Given the description of an element on the screen output the (x, y) to click on. 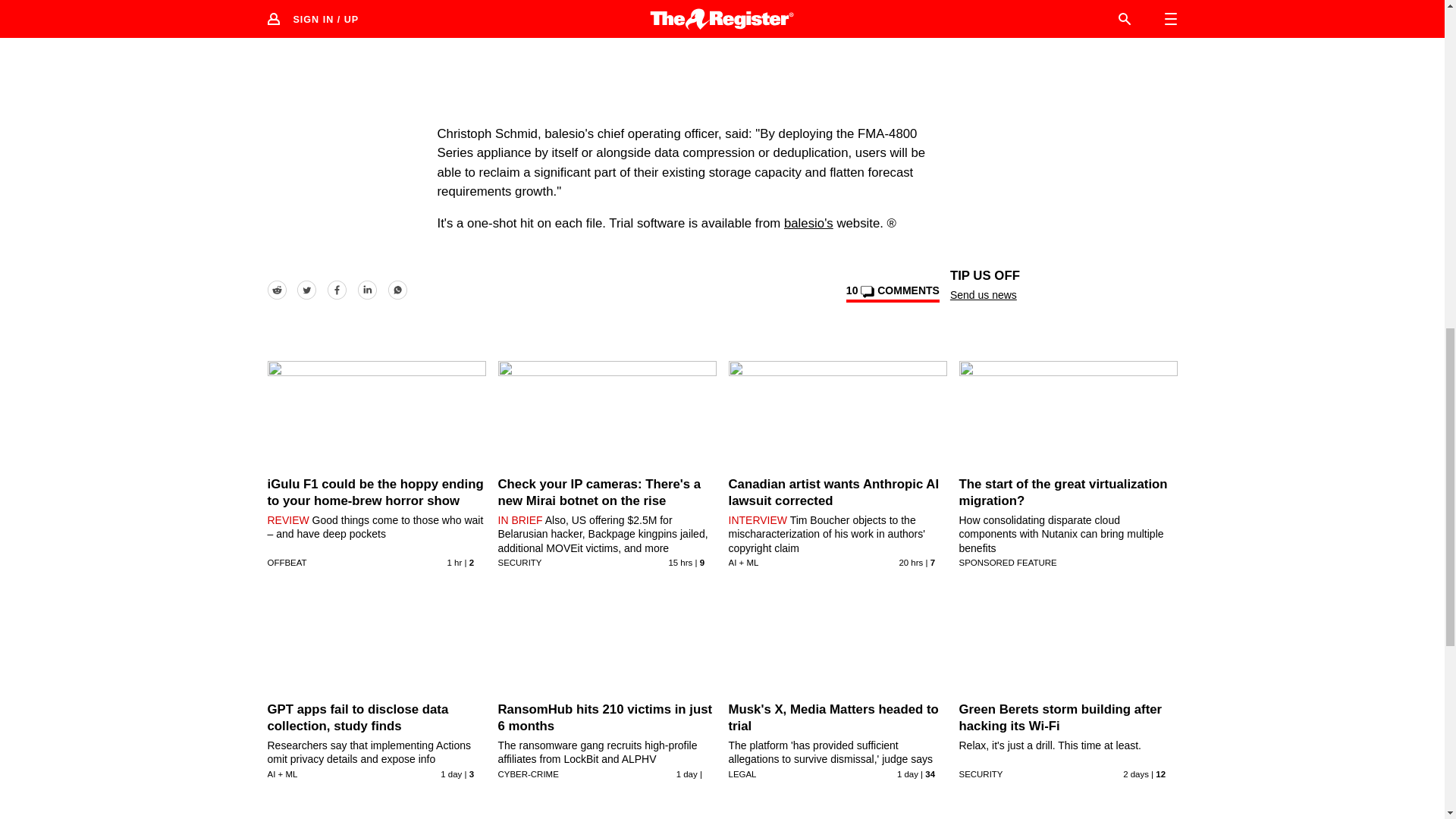
View comments on this article (892, 292)
1 Sep 2024 8:30 (454, 562)
30 Aug 2024 21:0 (1135, 773)
31 Aug 2024 18:22 (680, 562)
30 Aug 2024 23:55 (687, 773)
31 Aug 2024 13:29 (910, 562)
31 Aug 2024 5:0 (451, 773)
30 Aug 2024 22:30 (907, 773)
